Given the description of an element on the screen output the (x, y) to click on. 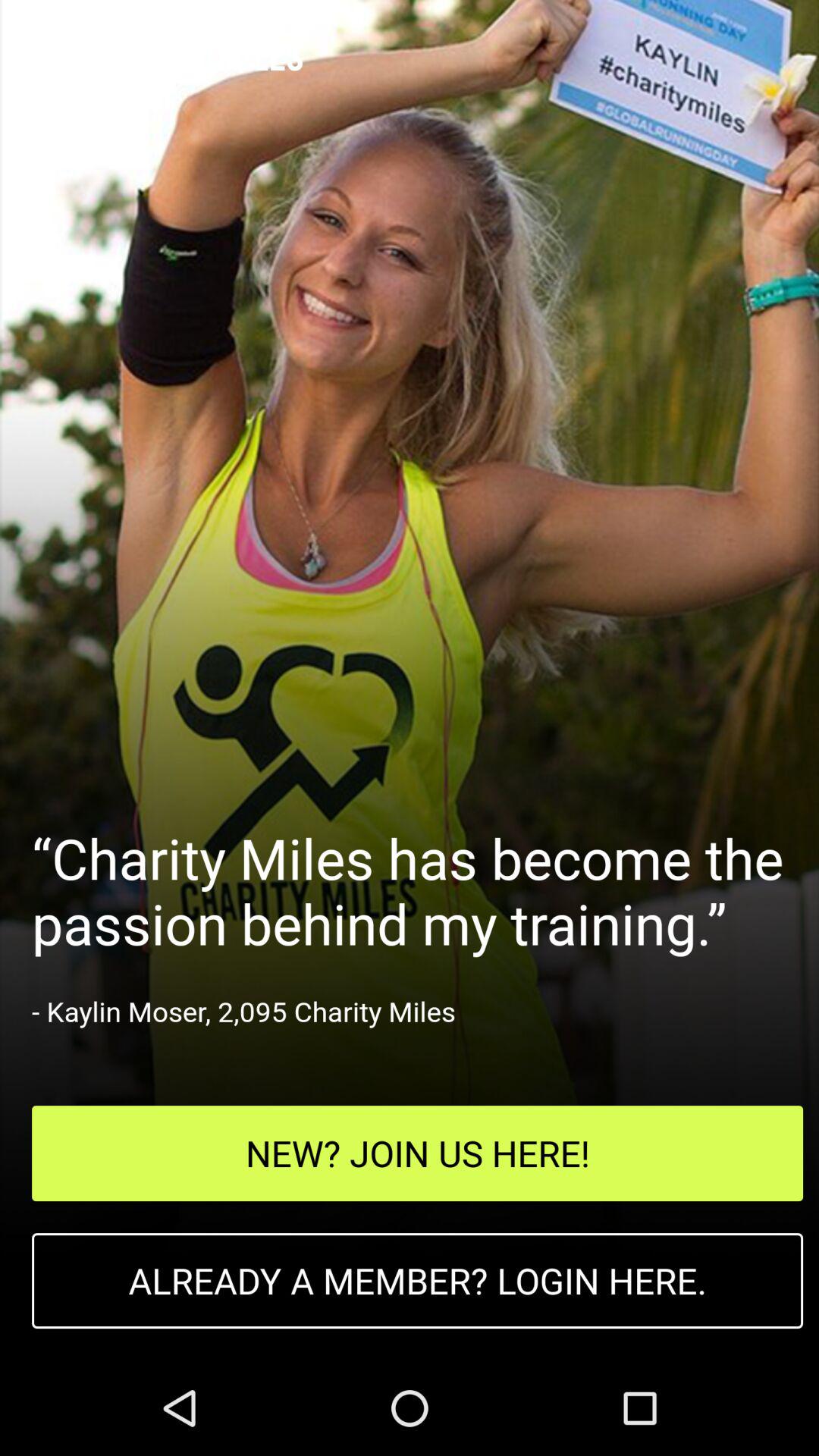
open the icon below the new join us icon (417, 1280)
